Given the description of an element on the screen output the (x, y) to click on. 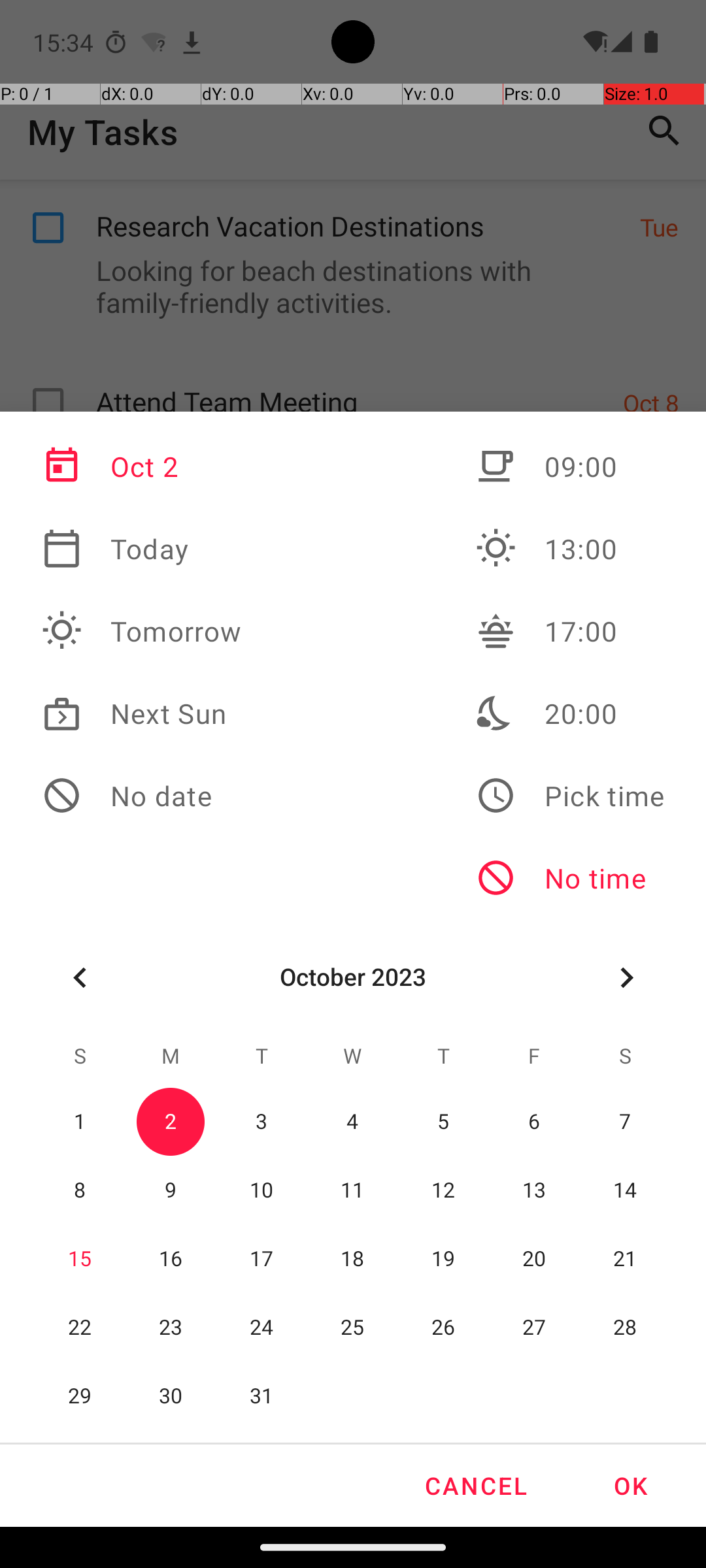
Oct 2 Element type: android.widget.CompoundButton (141, 466)
